Given the description of an element on the screen output the (x, y) to click on. 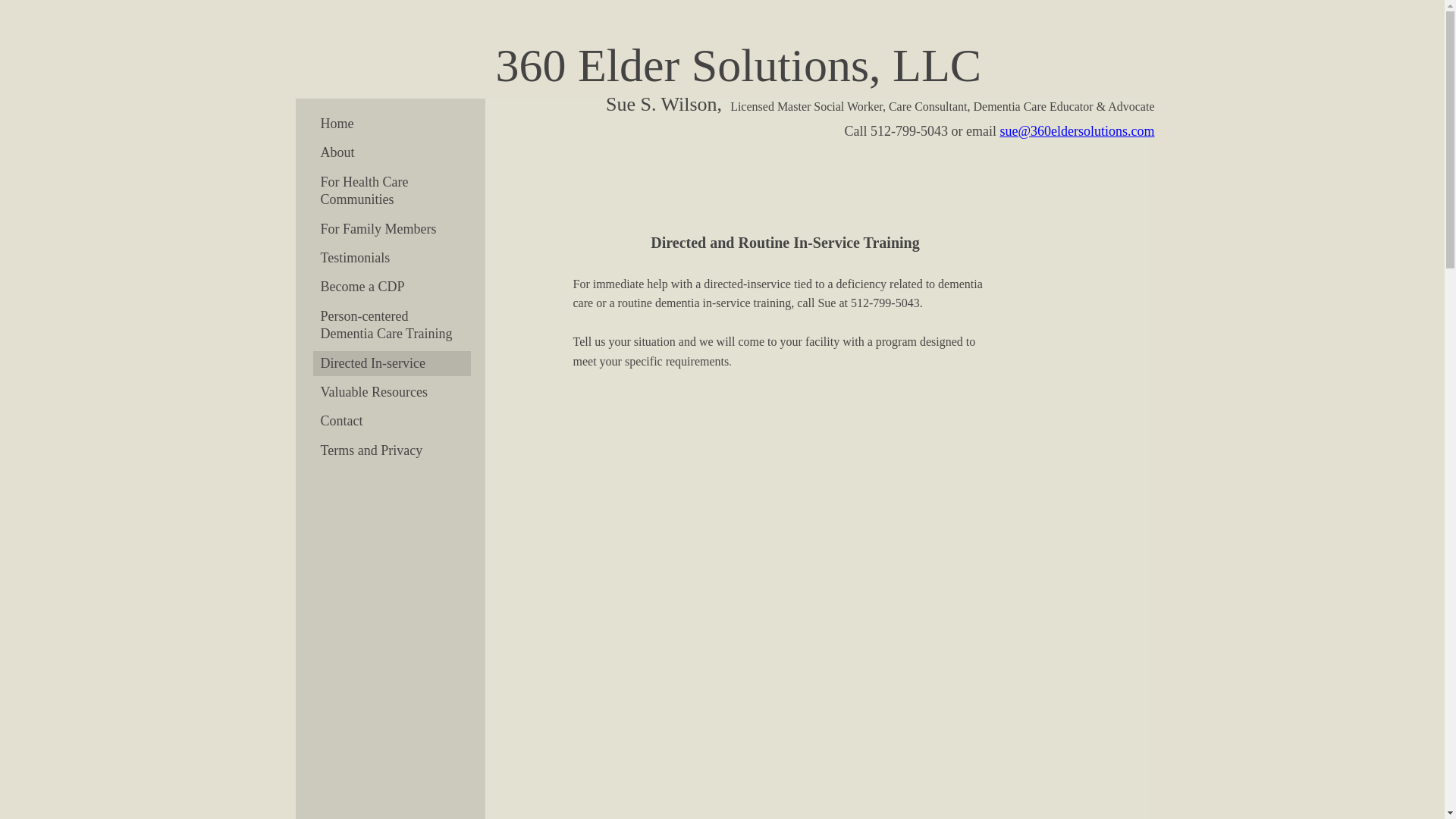
Contact Element type: text (391, 420)
Person-centered Dementia Care Training Element type: text (391, 325)
sue@360eldersolutions.com Element type: text (1076, 130)
Become a CDP Element type: text (391, 286)
Testimonials Element type: text (391, 257)
For Health Care Communities Element type: text (391, 191)
For Family Members Element type: text (391, 228)
Terms and Privacy Element type: text (391, 450)
Valuable Resources Element type: text (391, 391)
Home Element type: text (391, 123)
Directed In-service Element type: text (391, 363)
About Element type: text (391, 152)
